Given the description of an element on the screen output the (x, y) to click on. 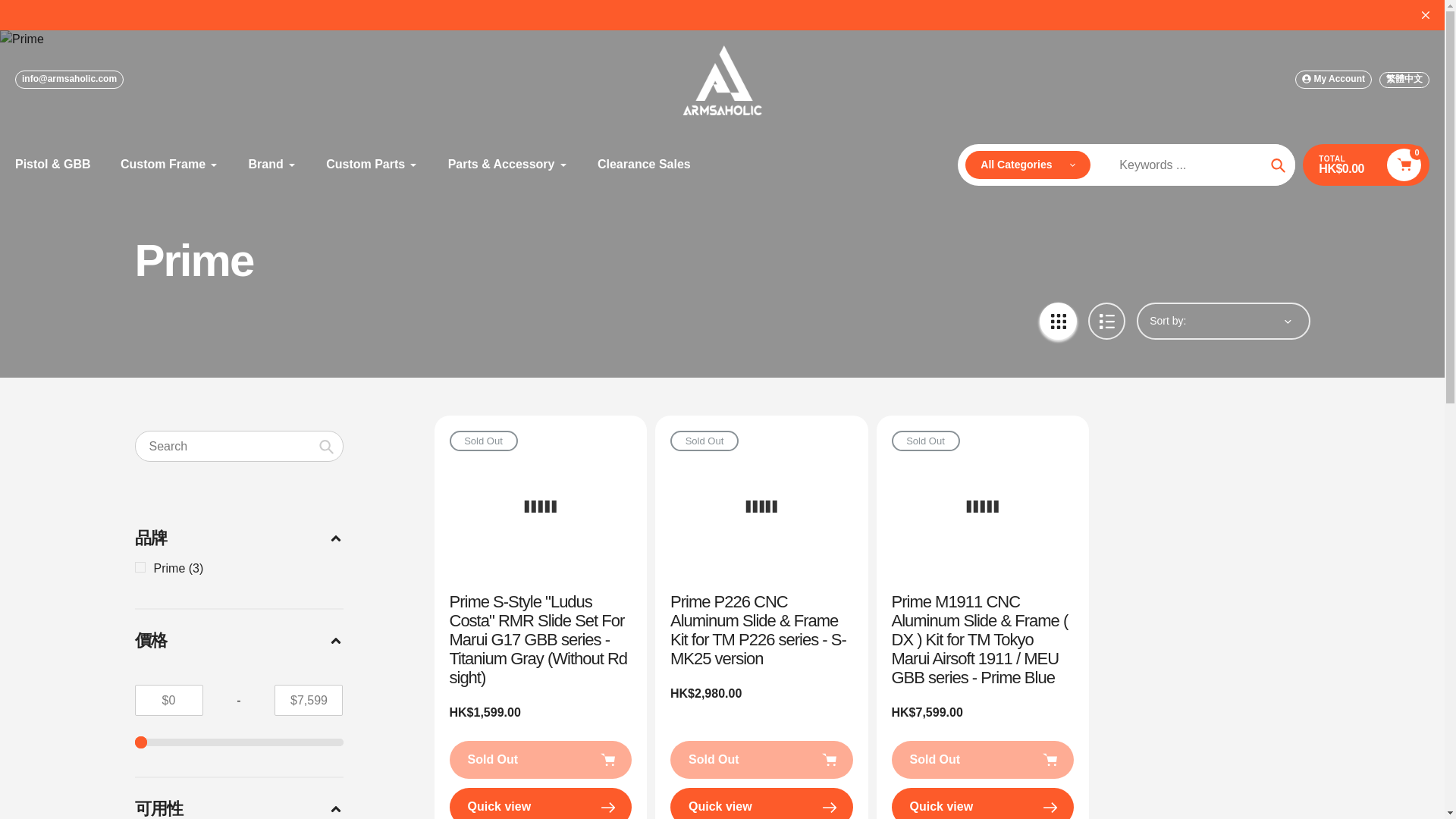
Custom Frame (169, 164)
Brand (272, 164)
0 (239, 742)
0 (239, 742)
My Account (1333, 79)
